Given the description of an element on the screen output the (x, y) to click on. 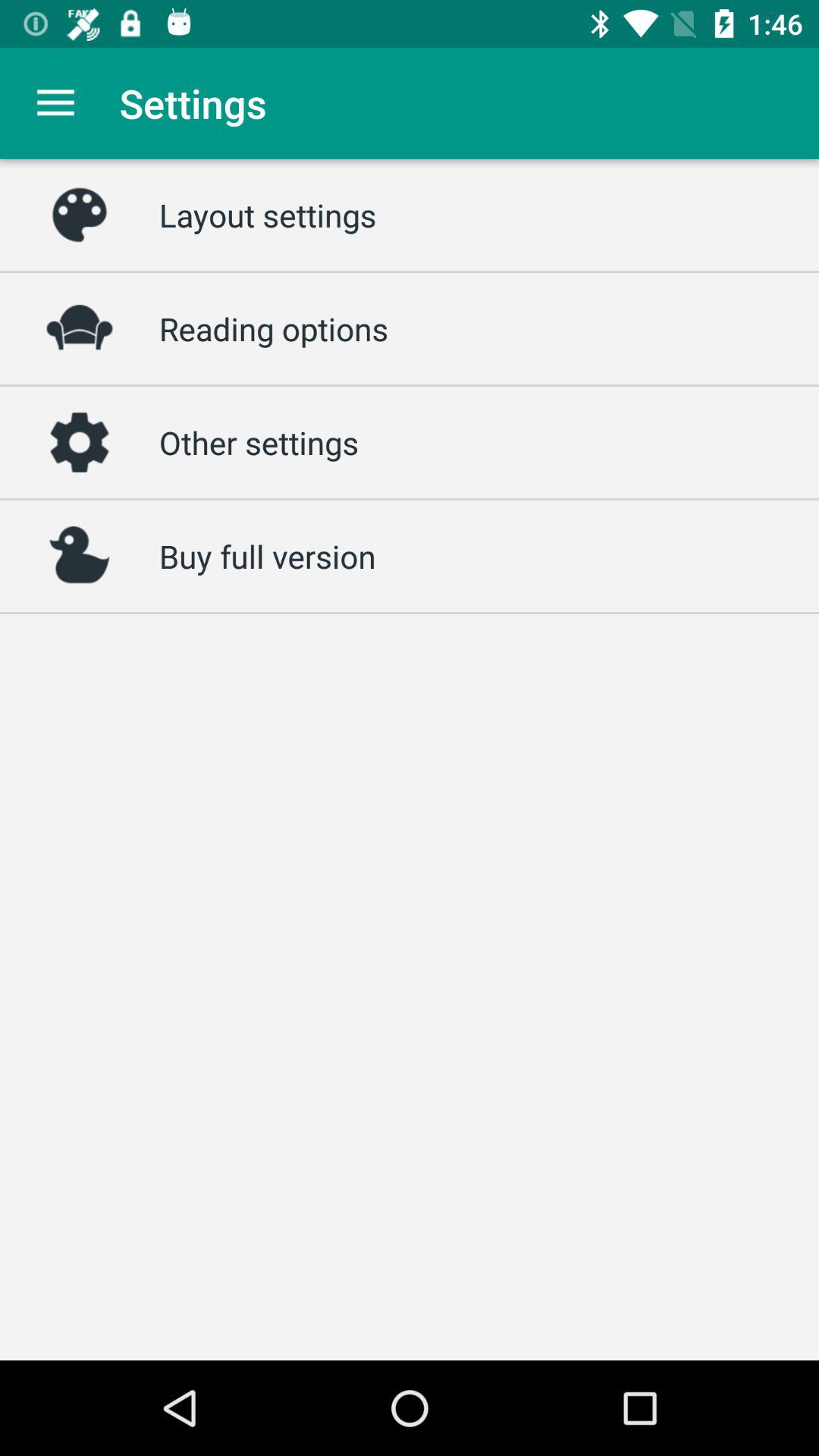
choose item next to the settings app (55, 103)
